Given the description of an element on the screen output the (x, y) to click on. 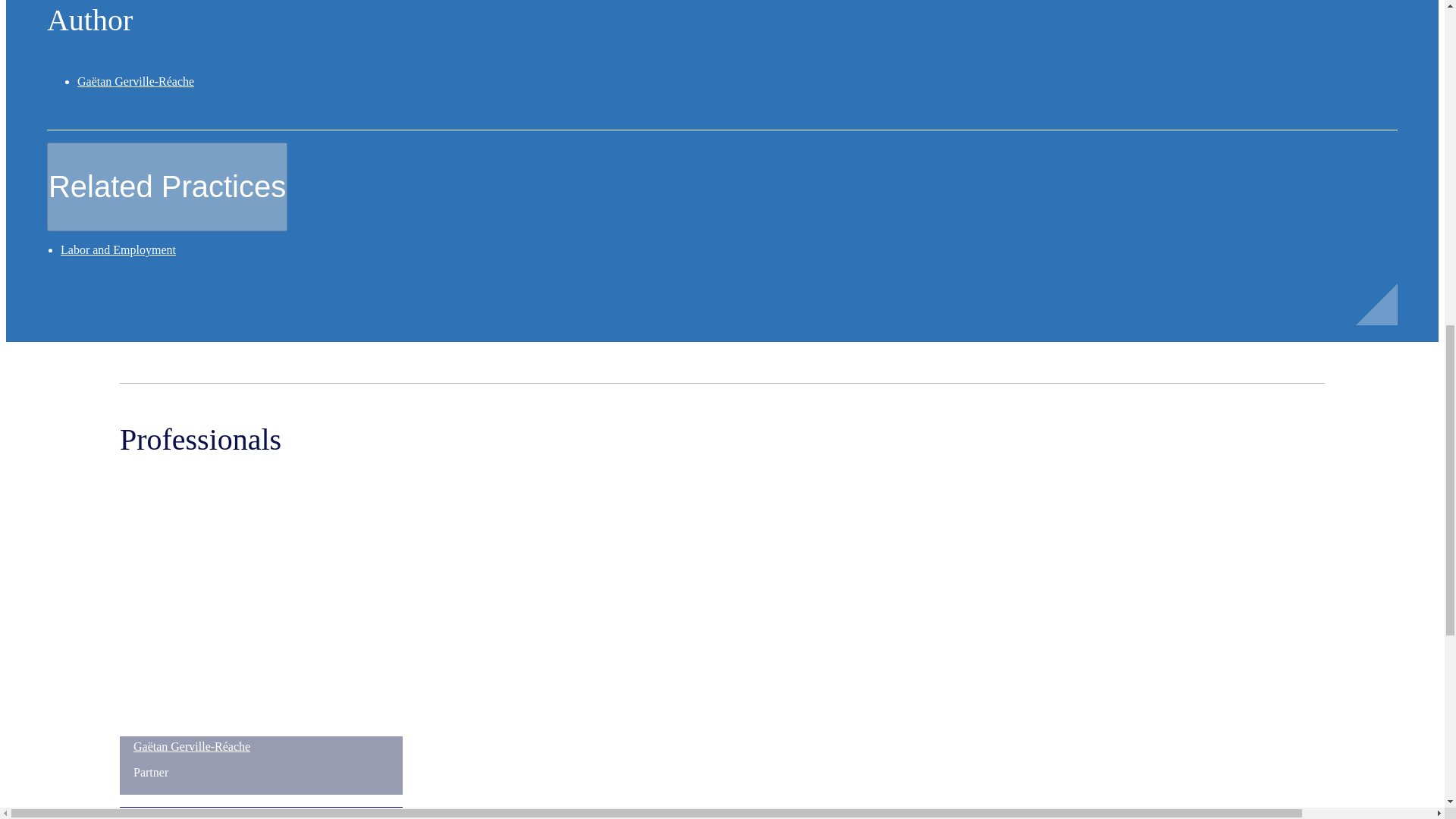
Related Practices (166, 186)
Labor and Employment (118, 249)
